Given the description of an element on the screen output the (x, y) to click on. 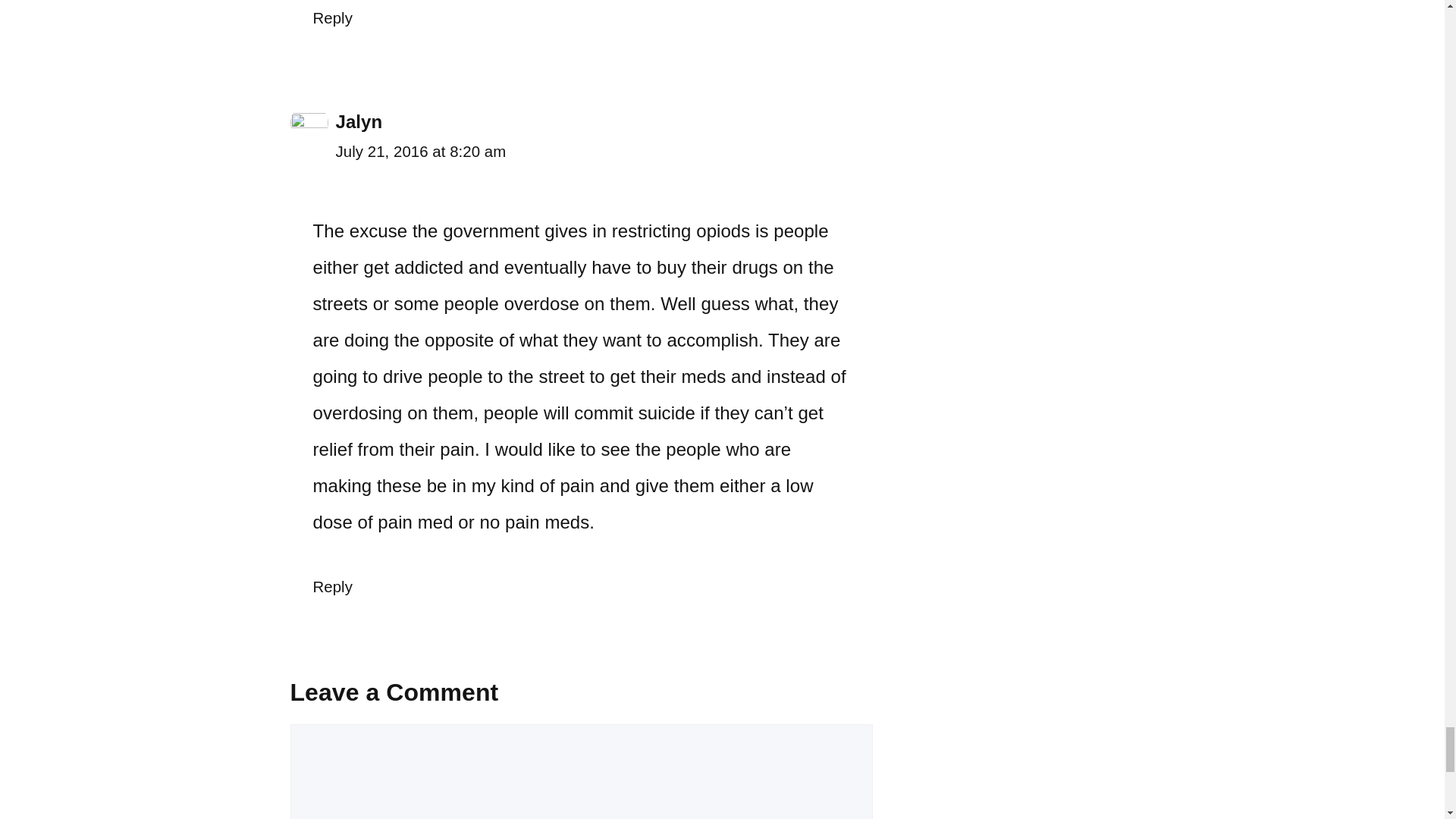
Reply (332, 17)
Reply (332, 586)
July 21, 2016 at 8:20 am (419, 151)
